Given the description of an element on the screen output the (x, y) to click on. 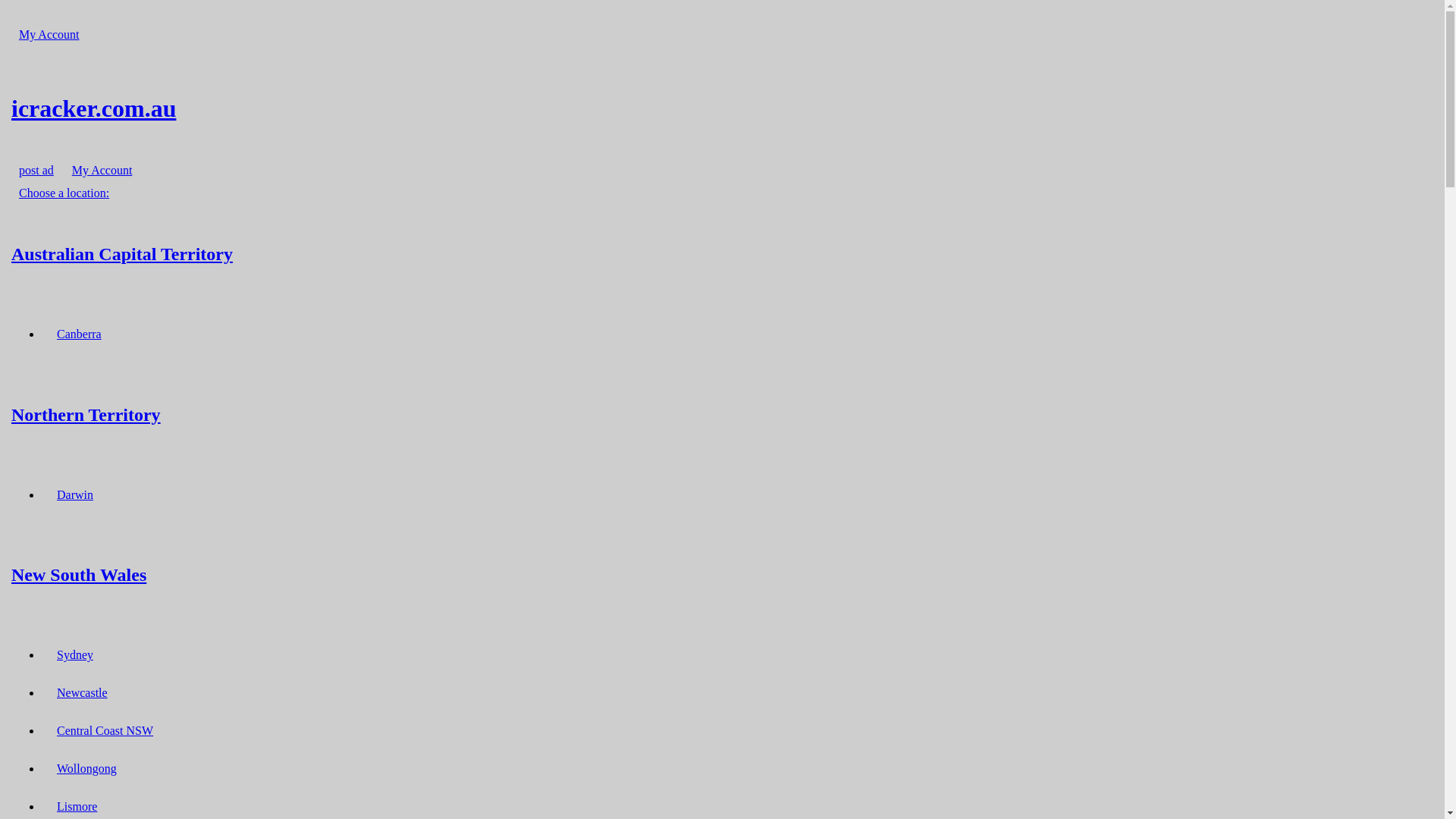
Australian Capital Territory Element type: text (722, 253)
My Account Element type: text (49, 34)
My Account Element type: text (102, 170)
post ad Element type: text (36, 170)
Central Coast NSW Element type: text (104, 730)
Northern Territory Element type: text (722, 414)
Newcastle Element type: text (82, 692)
Wollongong Element type: text (86, 768)
icracker.com.au Element type: text (722, 108)
Choose a location: Element type: text (63, 192)
Canberra Element type: text (79, 334)
New South Wales Element type: text (722, 575)
Sydney Element type: text (74, 654)
Darwin Element type: text (74, 494)
